Given the description of an element on the screen output the (x, y) to click on. 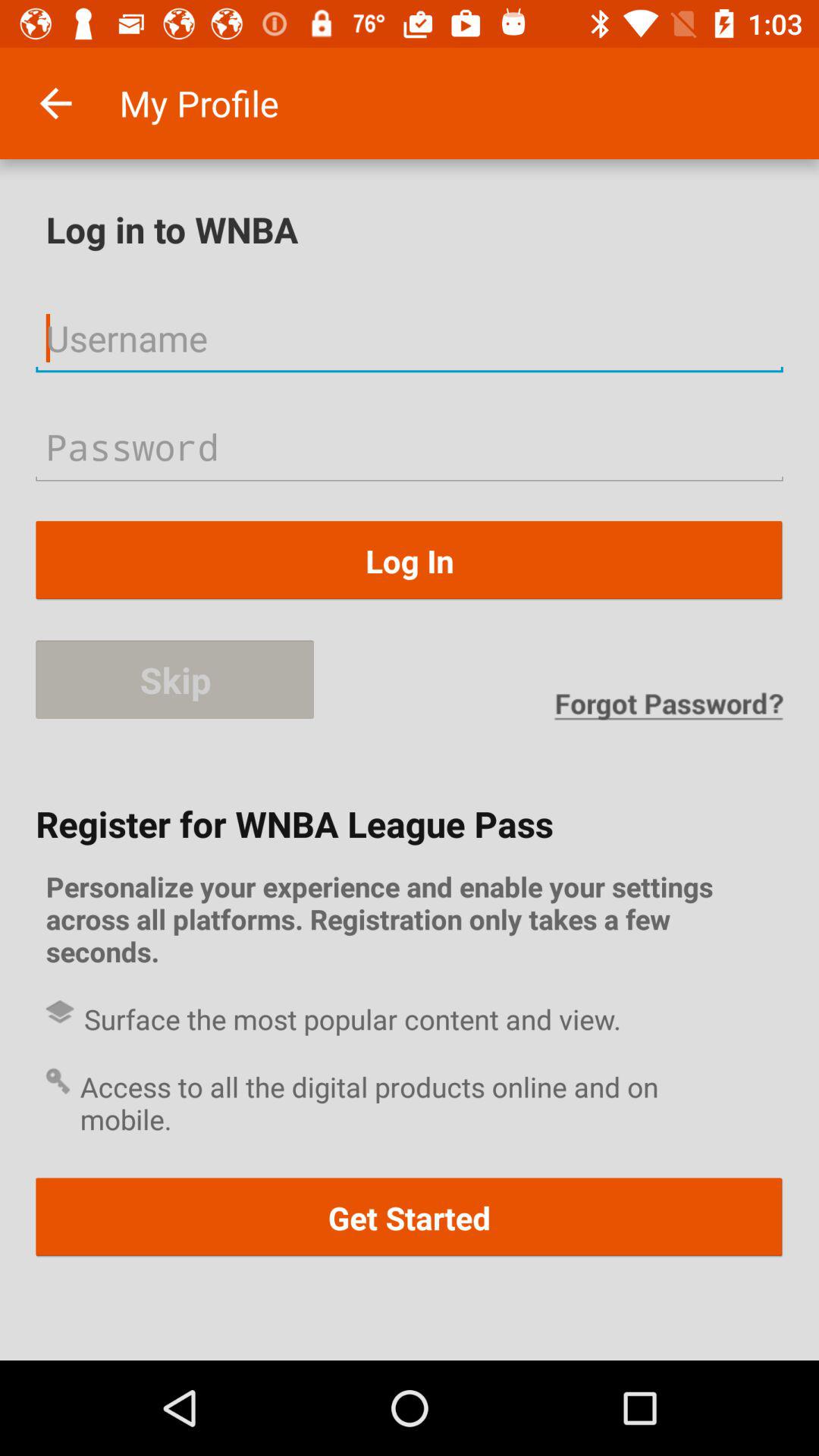
enter username (409, 337)
